Given the description of an element on the screen output the (x, y) to click on. 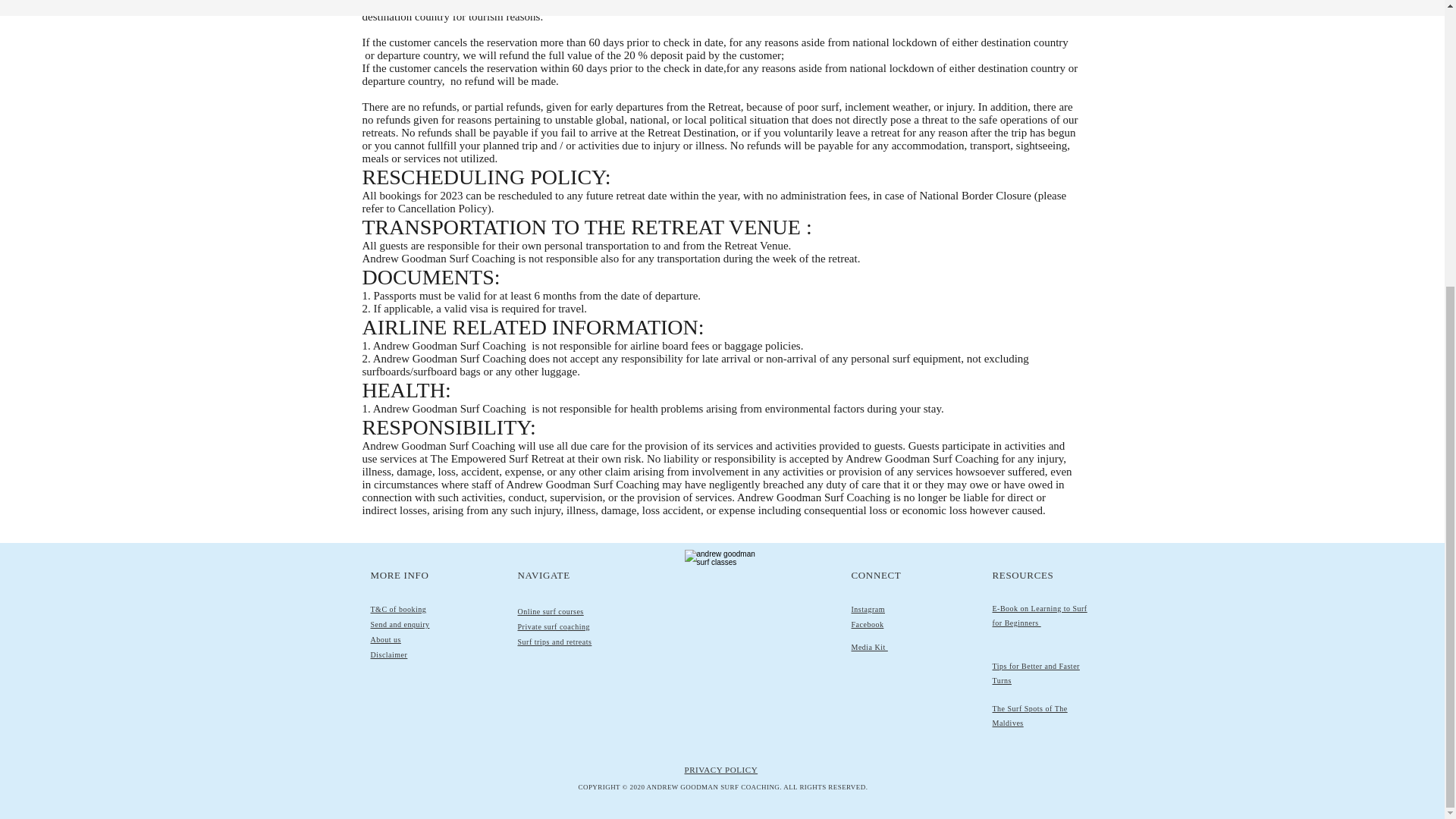
Send and enquiry (399, 623)
The Surf Spots of The Maldives (1029, 715)
Facebook (866, 623)
Disclaimer (388, 654)
E-Book on Learning to Surf for Beginners  (1038, 615)
Instagram (867, 609)
Surf trips and retreats (553, 642)
Online surf courses (549, 611)
About us (384, 639)
PRIVACY POLICY (720, 768)
